Given the description of an element on the screen output the (x, y) to click on. 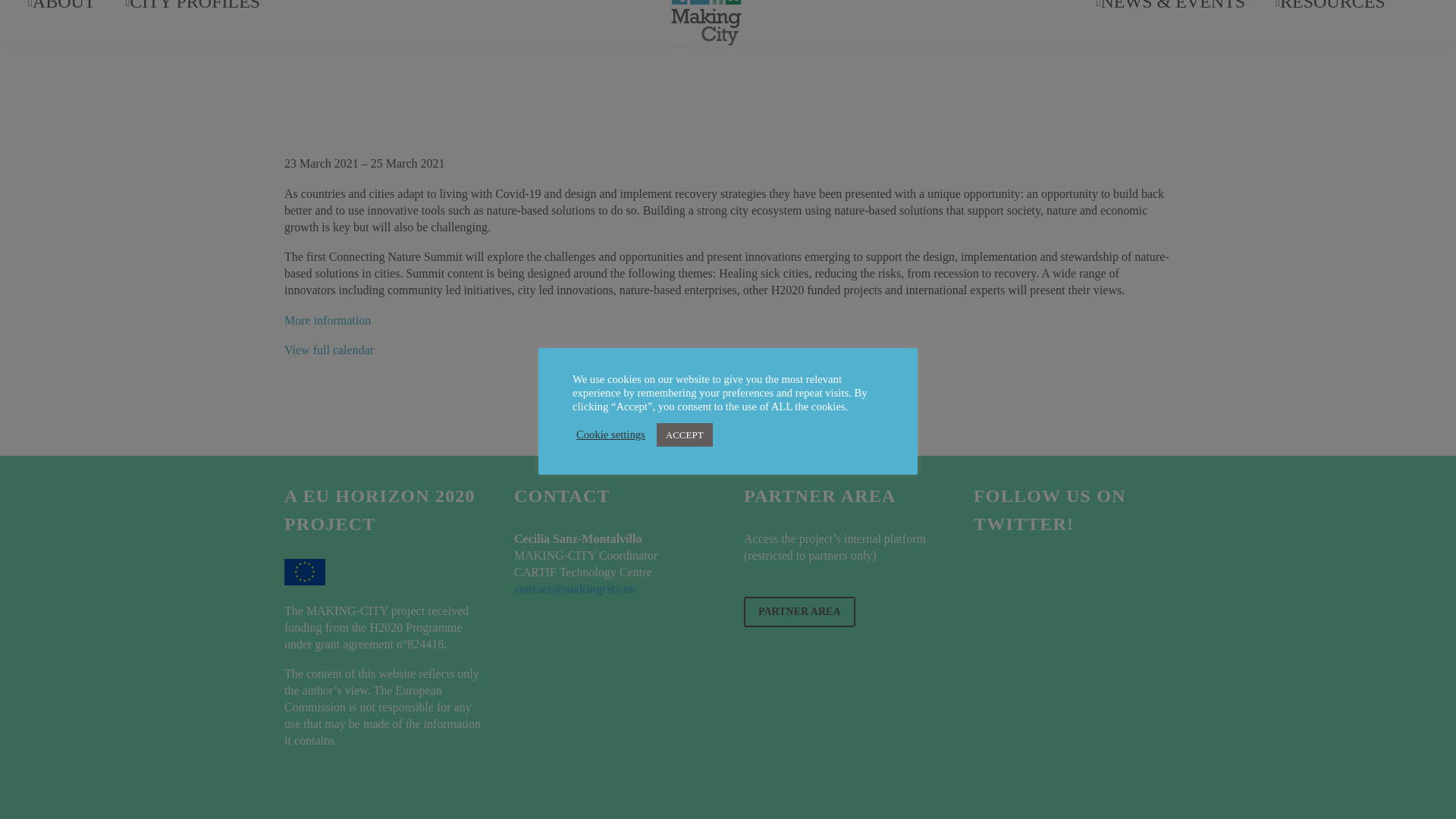
ABOUT (61, 22)
CITY PROFILES (193, 22)
Partner area (800, 612)
Resources (1330, 22)
PARTNER AREA (800, 612)
RESOURCES (1330, 22)
View full calendar (328, 349)
More information (327, 319)
